Given the description of an element on the screen output the (x, y) to click on. 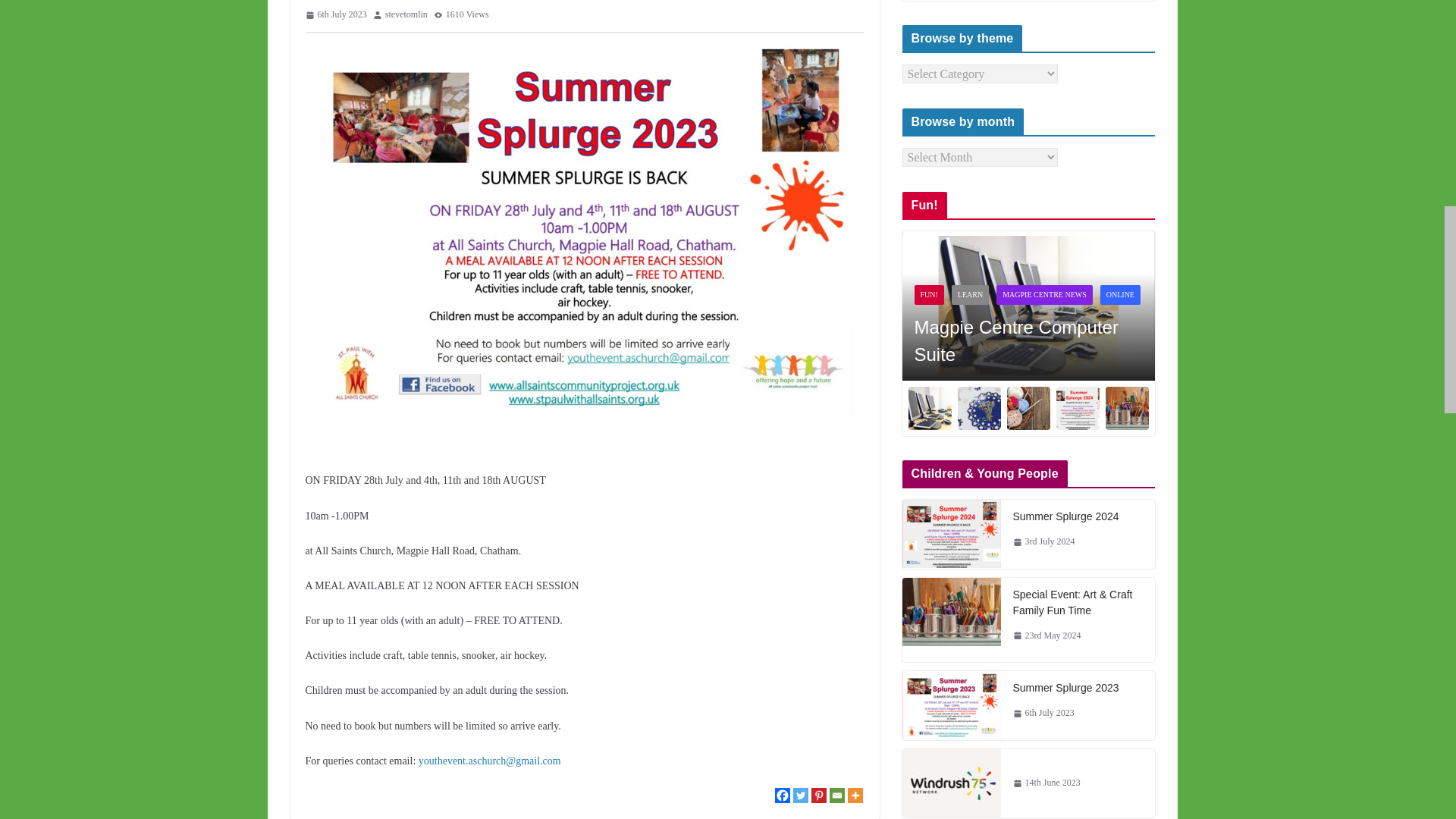
stevetomlin (406, 14)
Facebook (782, 795)
Pinterest (818, 795)
10:00 am (335, 14)
More (855, 795)
Email (836, 795)
Twitter (800, 795)
stevetomlin (406, 14)
6th July 2023 (335, 14)
